Given the description of an element on the screen output the (x, y) to click on. 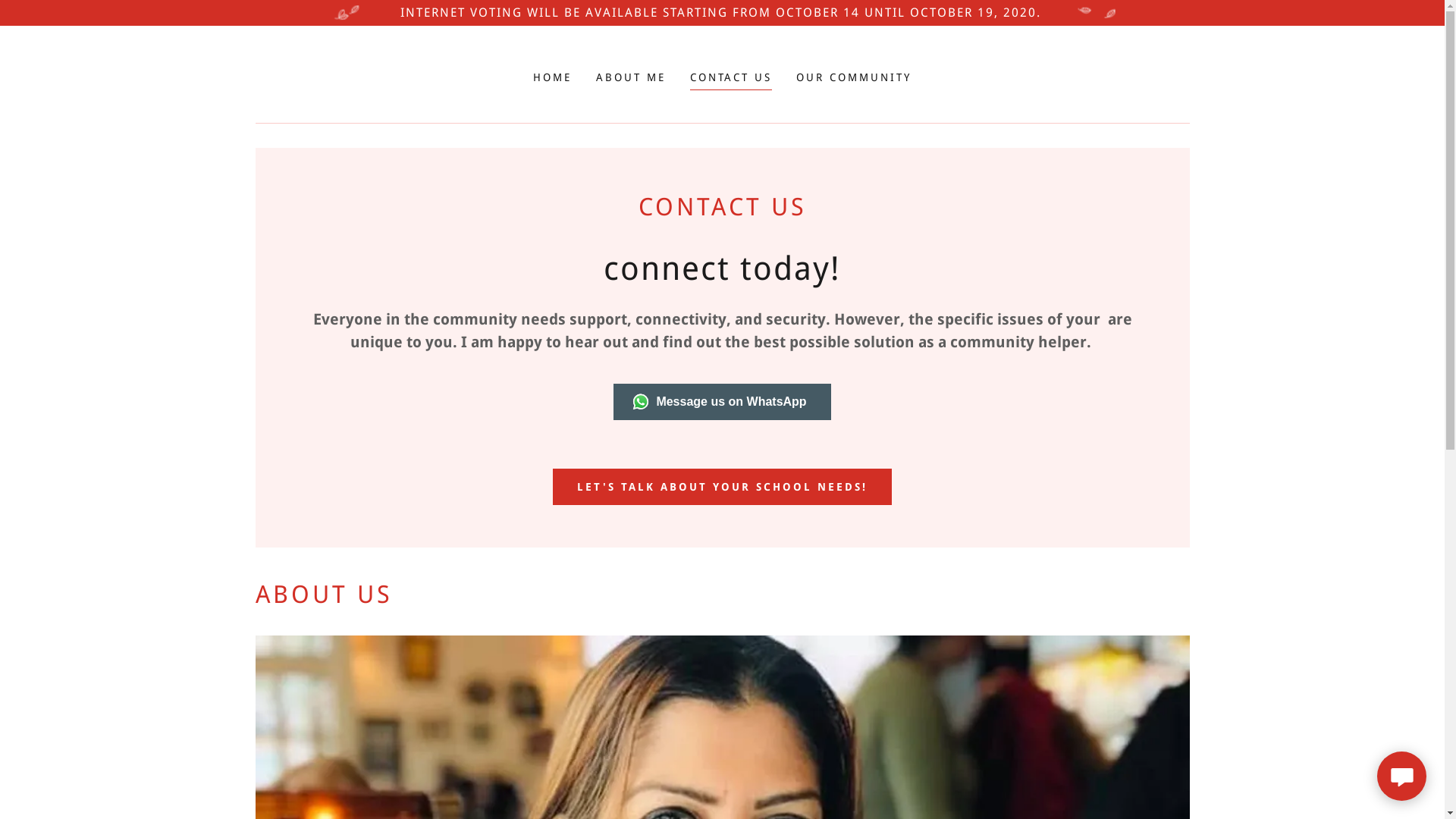
LET'S TALK ABOUT YOUR SCHOOL NEEDS! Element type: text (721, 486)
CONTACT US Element type: text (731, 79)
Message us on WhatsApp Element type: text (721, 401)
ABOUT ME Element type: text (630, 77)
OUR COMMUNITY Element type: text (853, 77)
HOME Element type: text (552, 77)
